Given the description of an element on the screen output the (x, y) to click on. 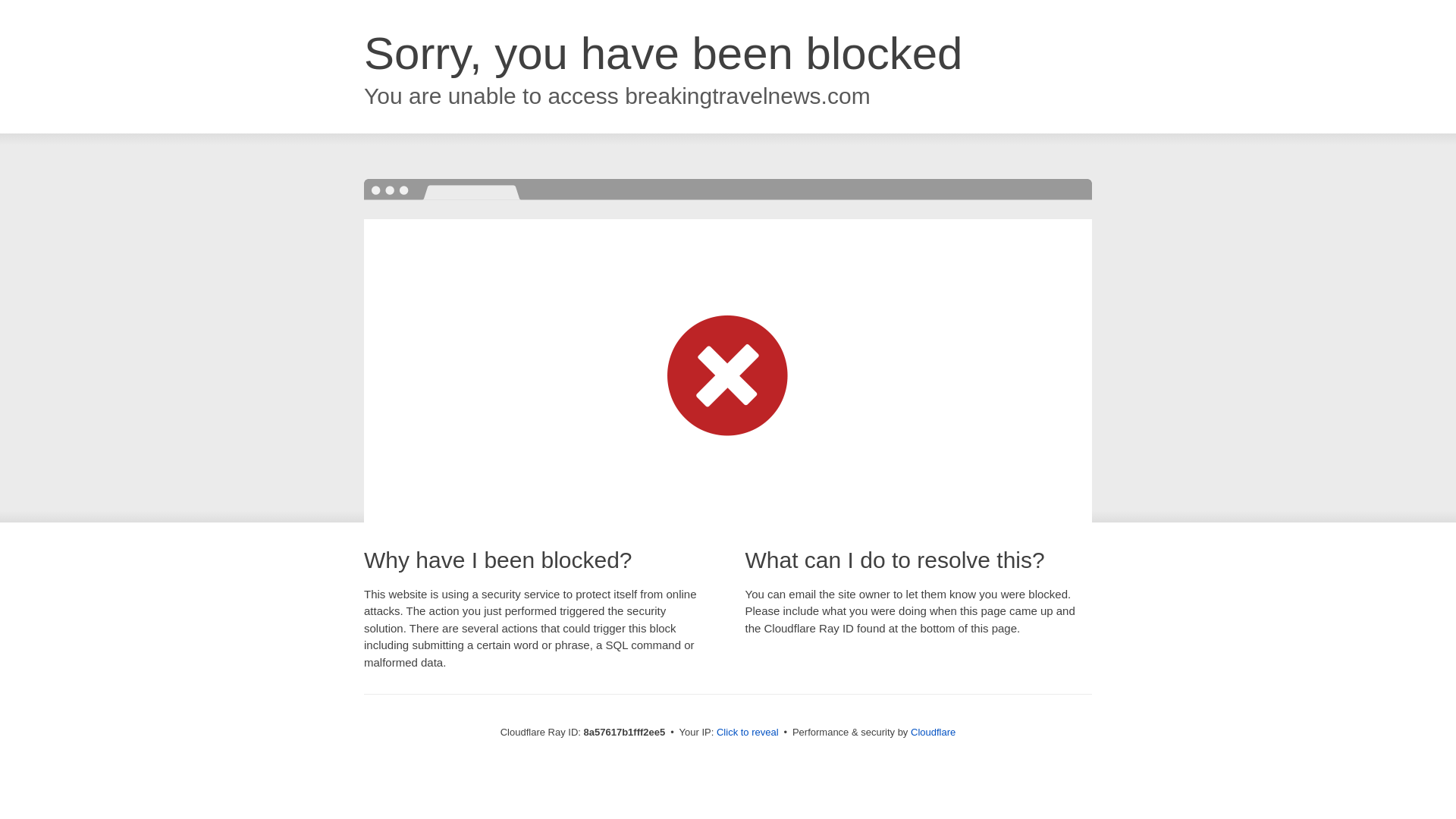
Cloudflare (933, 731)
Click to reveal (747, 732)
